Given the description of an element on the screen output the (x, y) to click on. 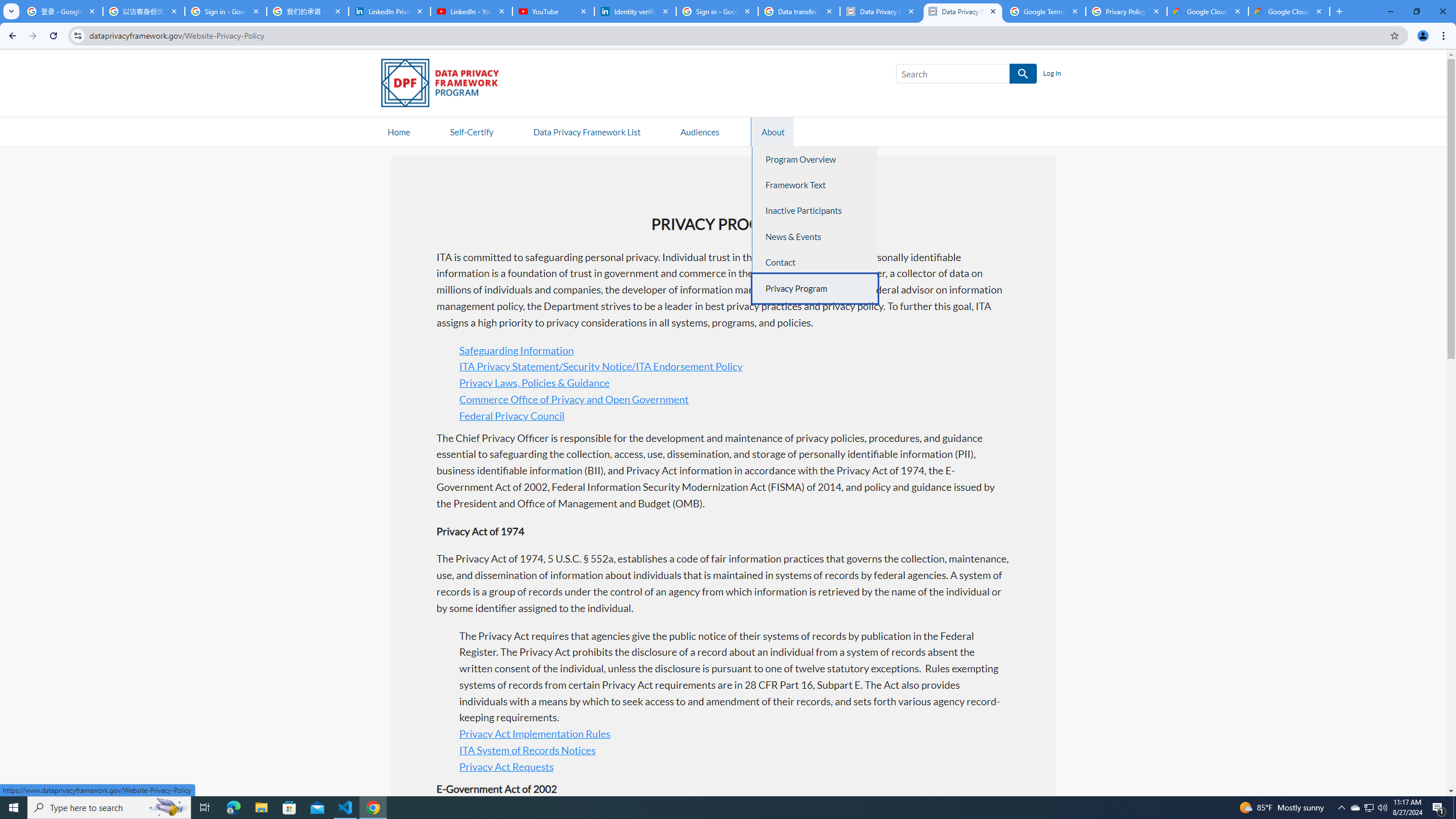
AutomationID: navitem (699, 131)
Data Privacy Framework Logo - Link to Homepage (445, 85)
News & Events (815, 236)
Data Privacy Framework (963, 11)
About (772, 131)
Self-Certify (471, 131)
Framework Text (815, 184)
Log In (1051, 73)
